Given the description of an element on the screen output the (x, y) to click on. 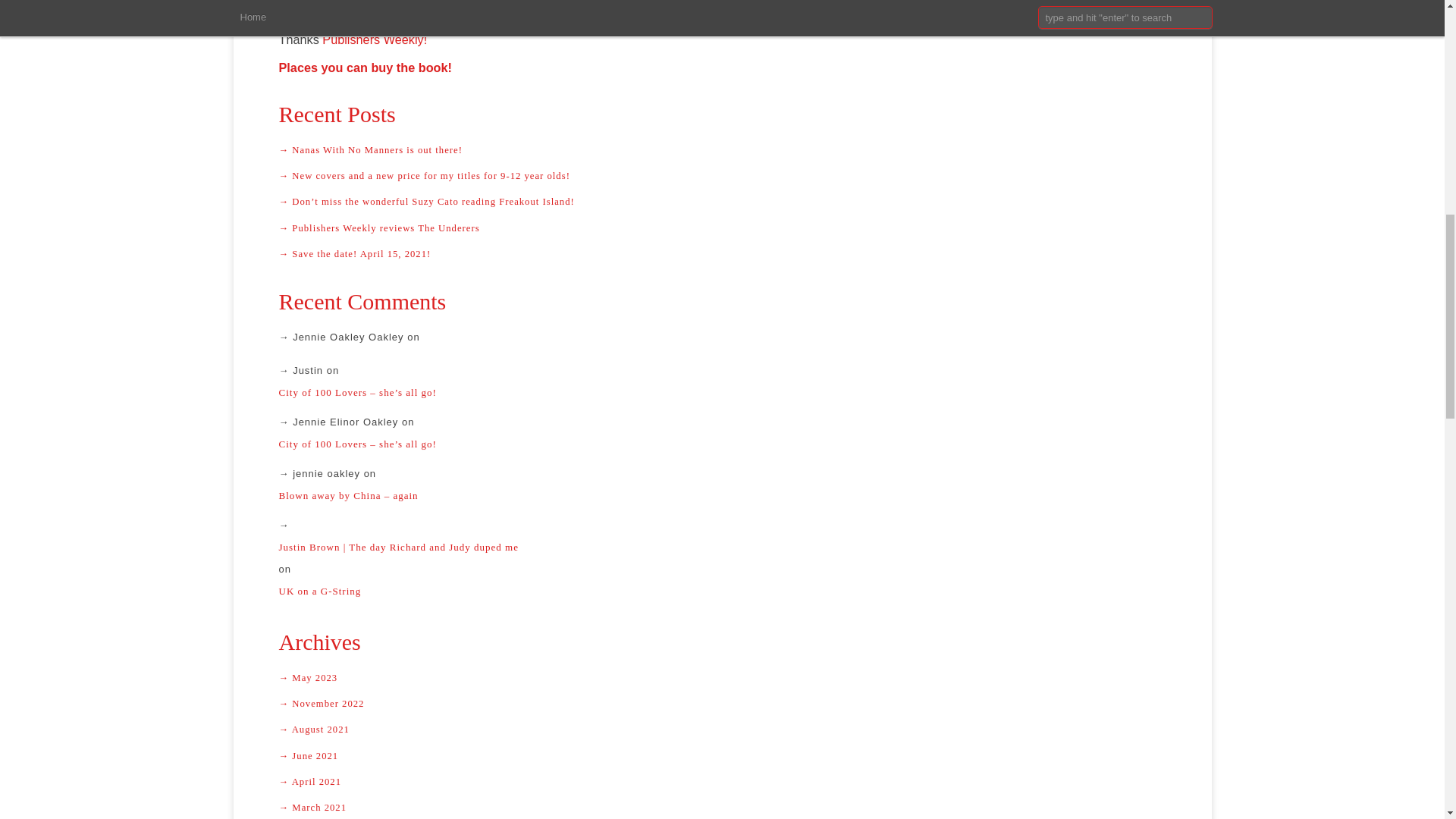
Nanas With No Manners is out there! (722, 149)
April 2021 (722, 781)
November 2022 (722, 703)
Save the date! April 15, 2021! (722, 253)
UK on a G-String   (722, 591)
May 2023 (722, 678)
Publishers Weekly reviews The Underers (722, 227)
New covers and a new price for my titles for 9-12 year olds! (722, 175)
June 2021 (722, 755)
August 2021 (722, 729)
Publishers Weekly! (373, 38)
March 2021 (722, 806)
Places you can buy the book! (365, 67)
